Given the description of an element on the screen output the (x, y) to click on. 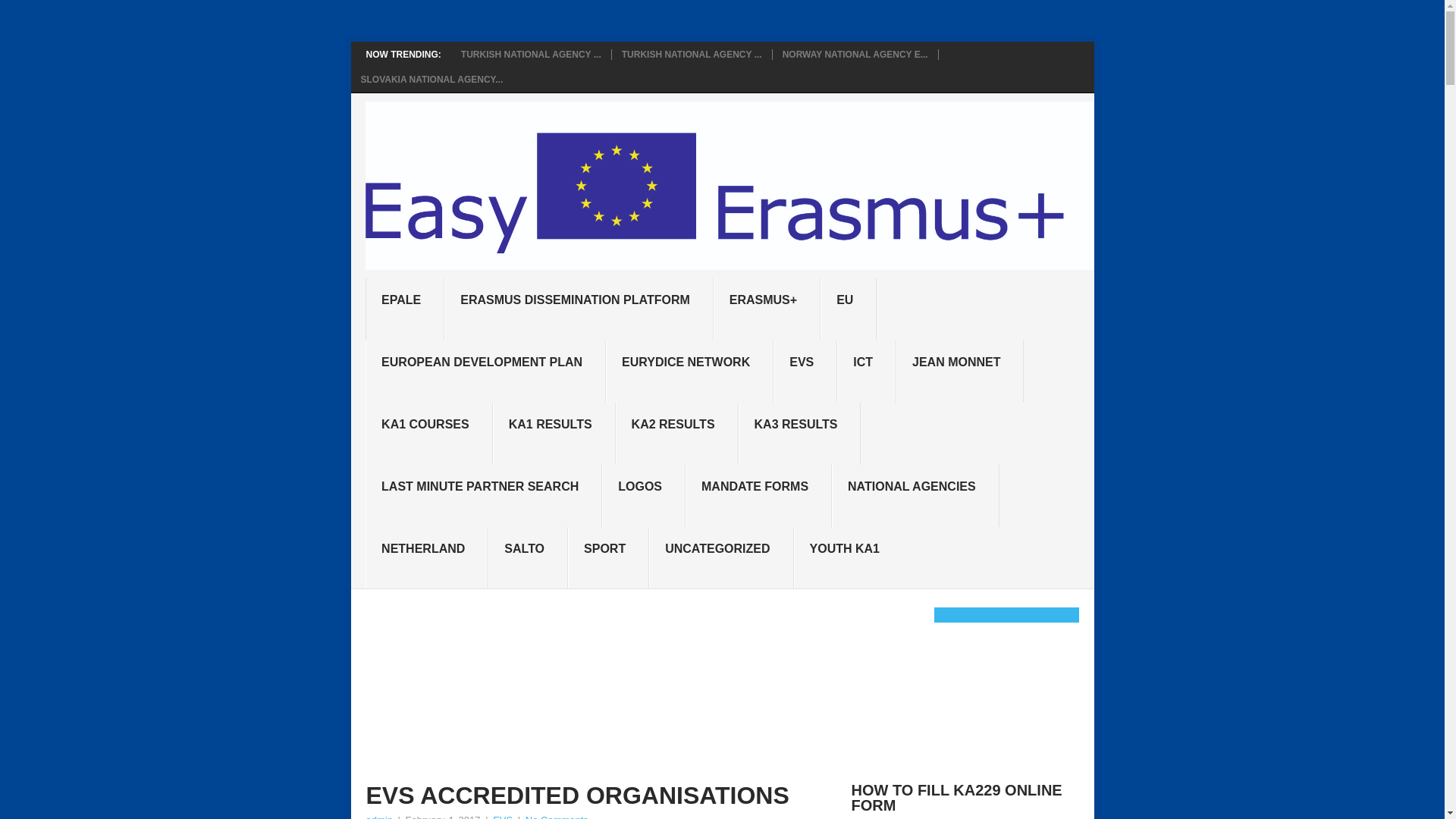
SLOVAKIA NATIONAL AGENCY... (432, 79)
JEAN MONNET (959, 371)
TURKISH NATIONAL AGENCY ... (691, 54)
EVS (805, 371)
EURYDICE NETWORK (689, 371)
NORWAY NATIONAL AGENCY E... (855, 54)
EU (848, 309)
EPALE (404, 309)
Advertisement (706, 683)
KA1 RESULTS (554, 433)
Turkish National Agency Ka105 Results (691, 54)
EUROPEAN DEVELOPMENT PLAN (485, 371)
KA1 COURSES (429, 433)
ERASMUS DISSEMINATION PLATFORM (578, 309)
Posts by admin (378, 816)
